Given the description of an element on the screen output the (x, y) to click on. 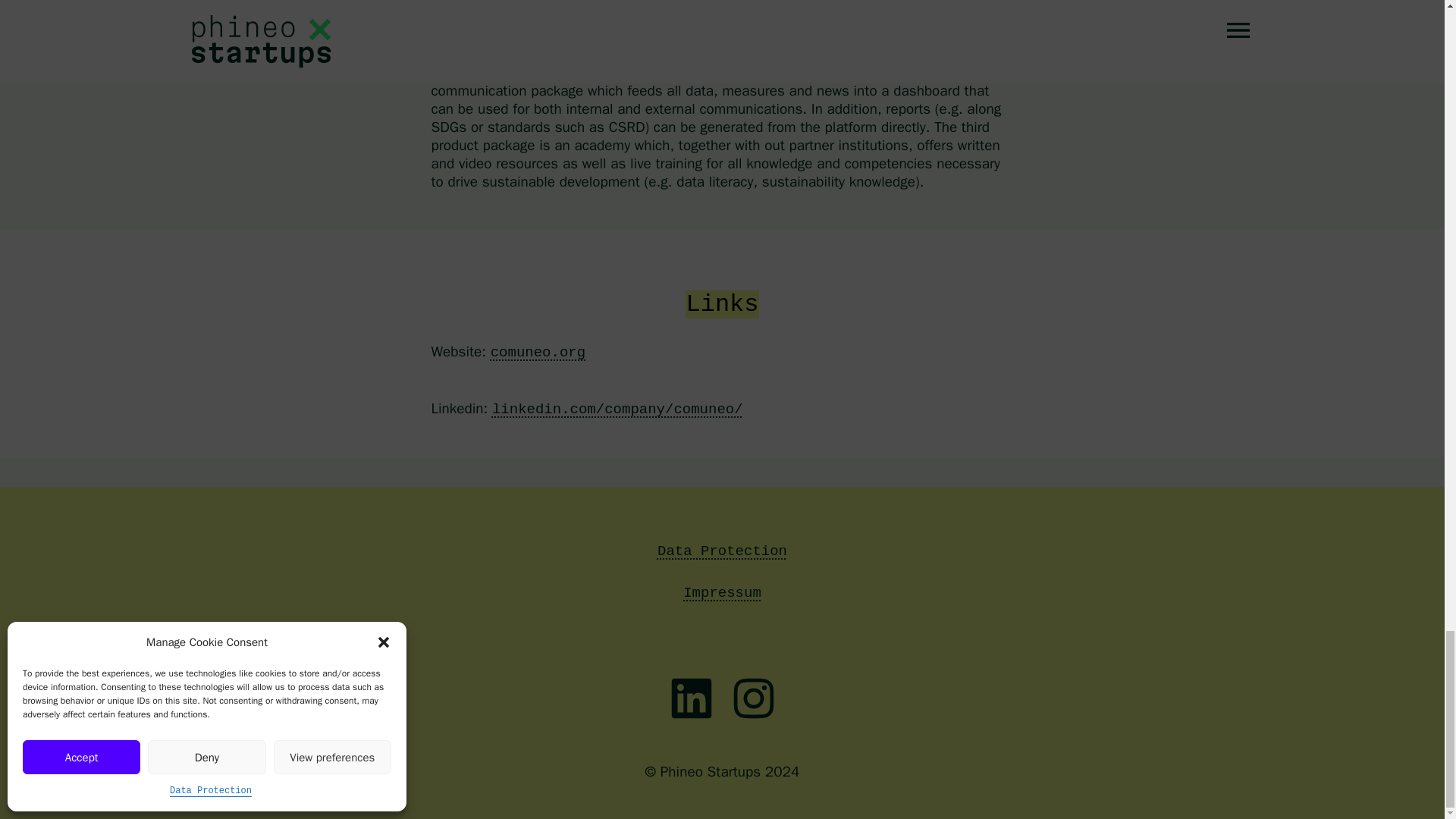
LinkedIn (690, 697)
comuneo.org (537, 352)
